Given the description of an element on the screen output the (x, y) to click on. 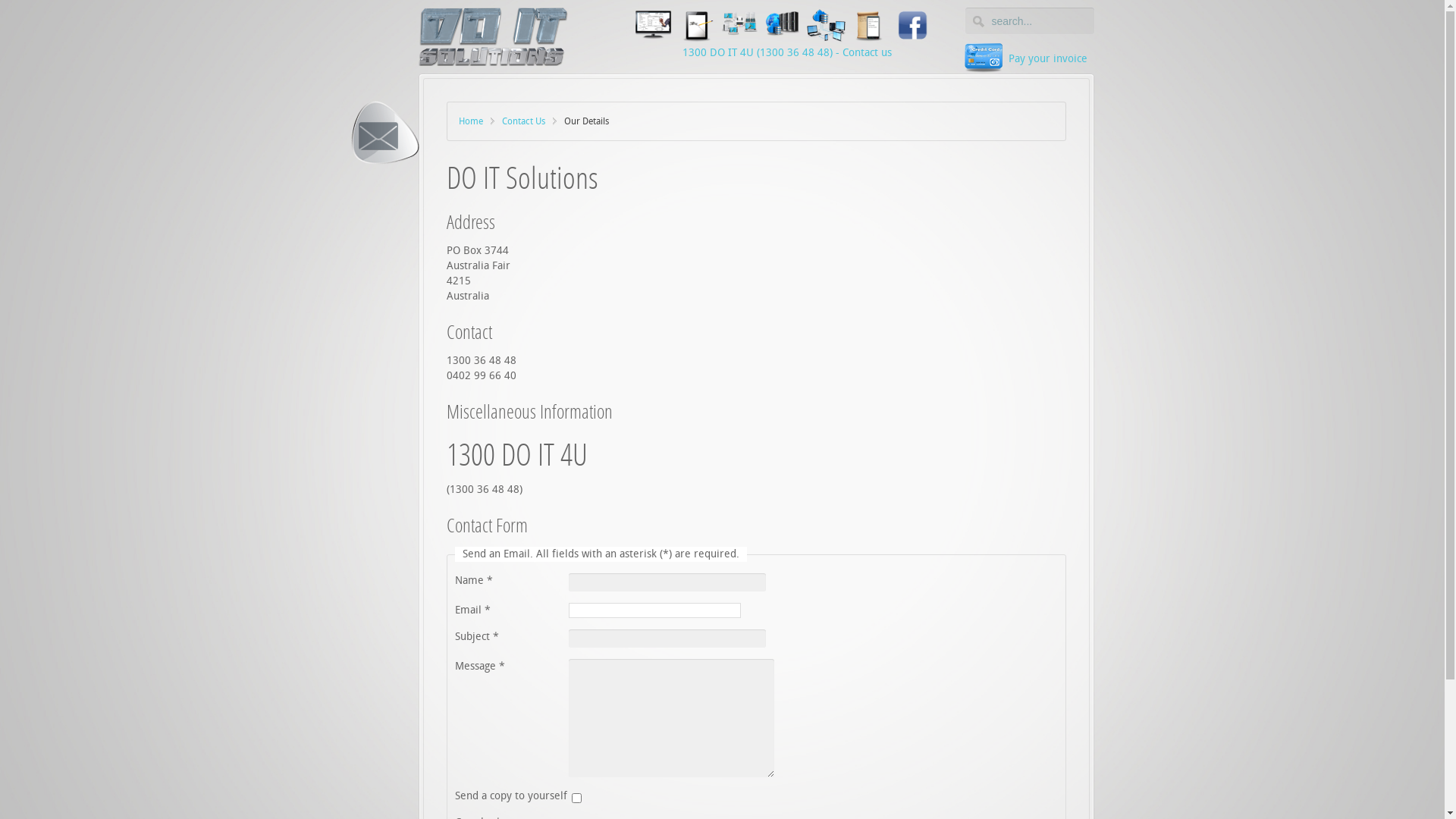
Our Details Element type: text (384, 134)
Home Element type: text (475, 120)
1300 DO IT 4U (1300 36 48 48) - Contact us Element type: text (786, 52)
Reset Element type: text (3, 3)
Contact Us Element type: text (529, 120)
